Given the description of an element on the screen output the (x, y) to click on. 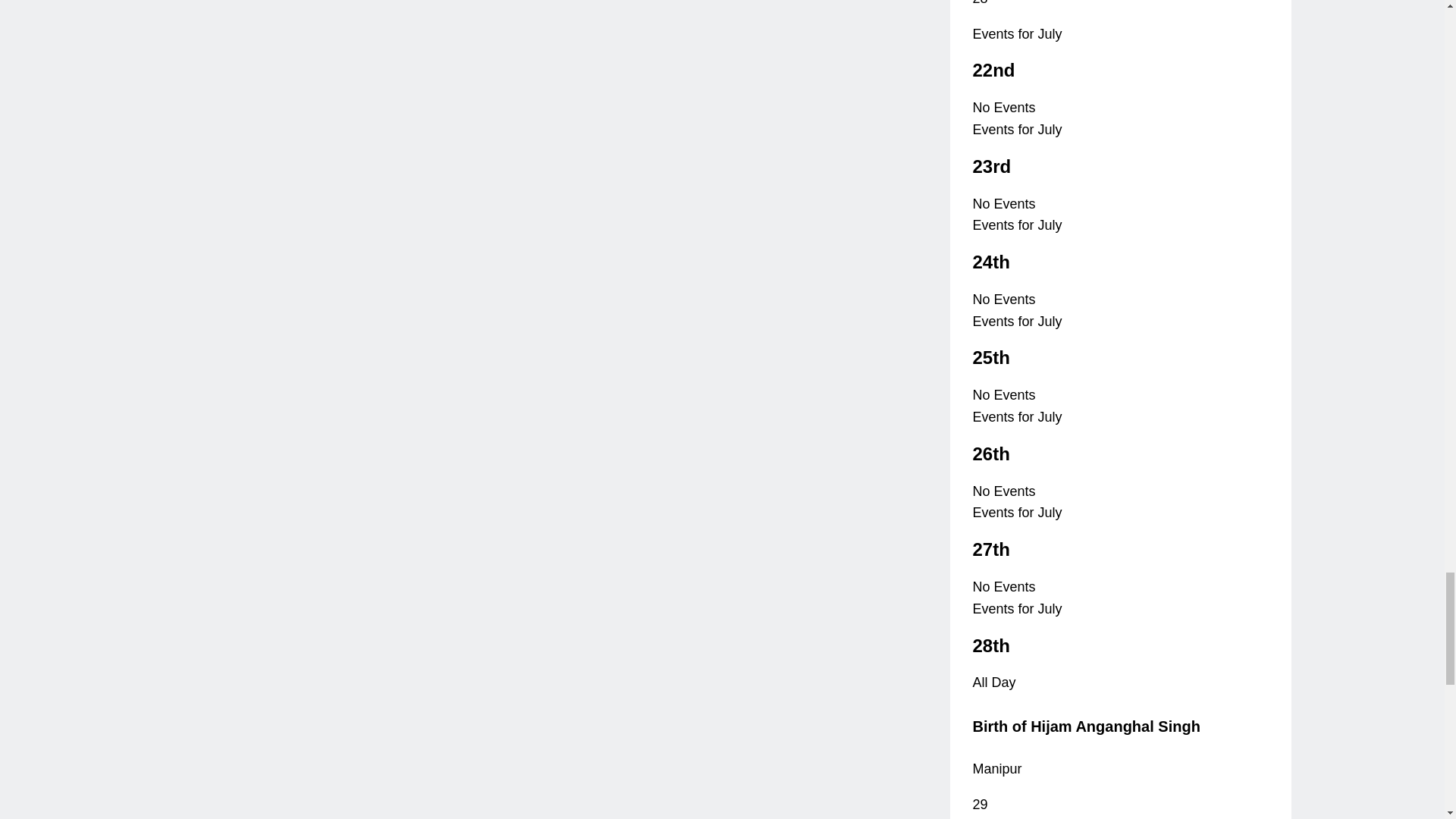
Birth of Hijam Anganghal Singh (1085, 726)
28 (979, 2)
